Given the description of an element on the screen output the (x, y) to click on. 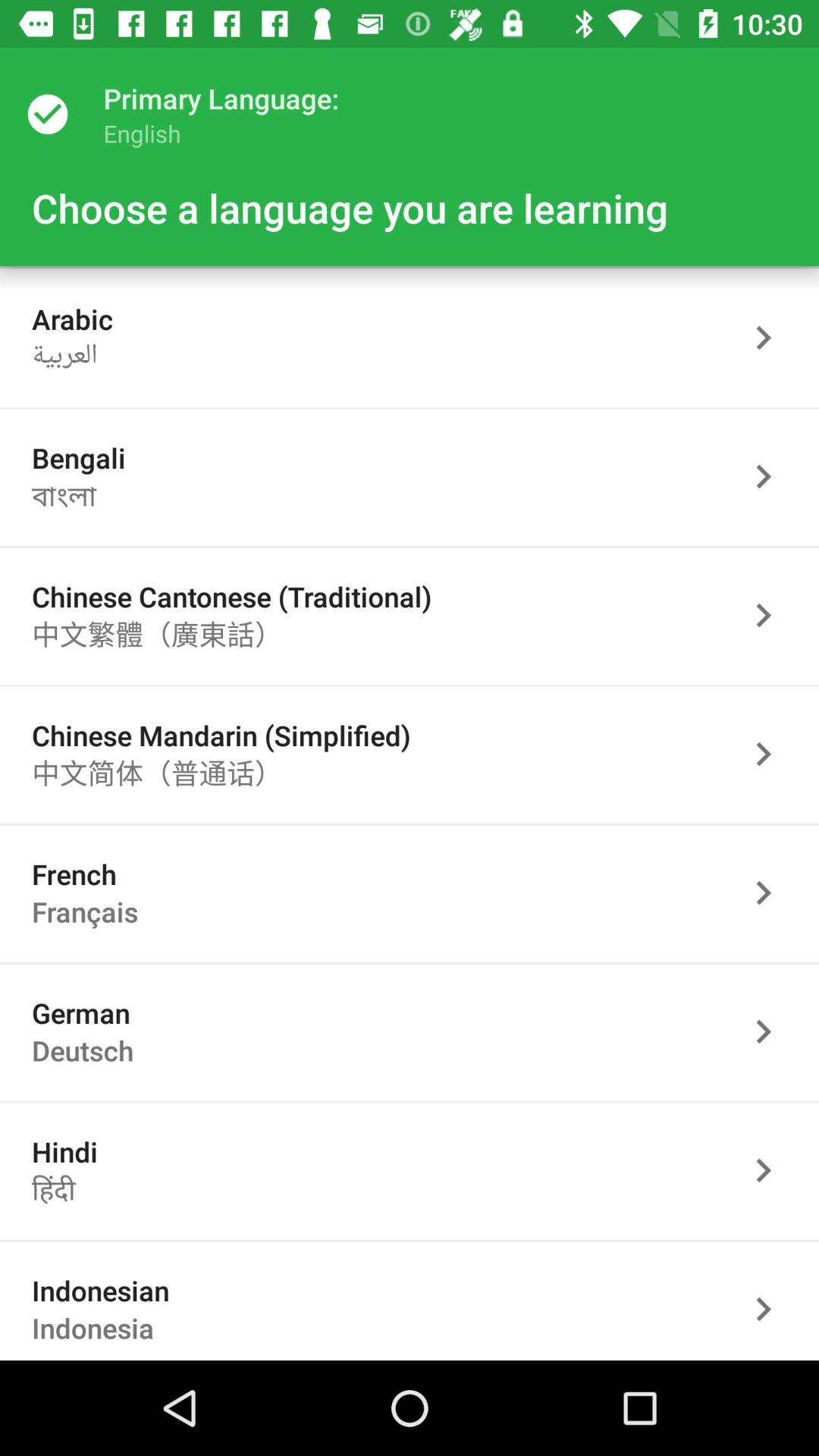
activate arrow to go forward (771, 615)
